Given the description of an element on the screen output the (x, y) to click on. 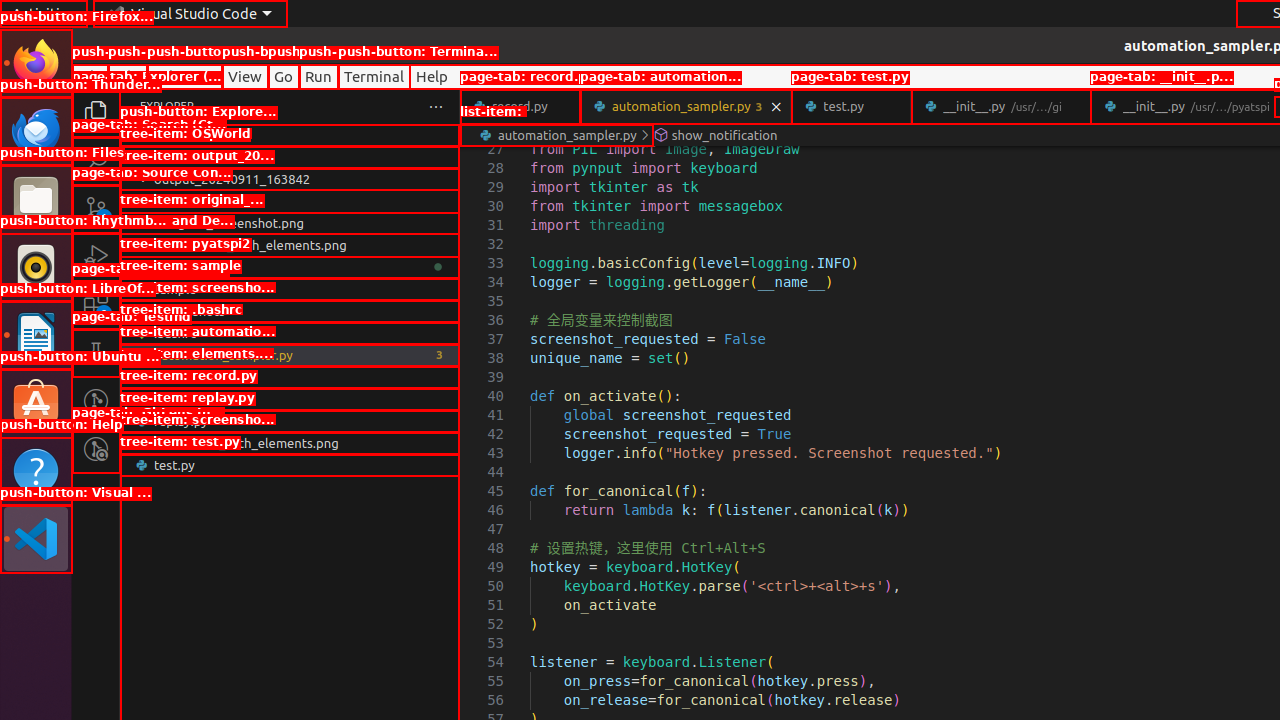
File Element type: push-button (90, 76)
test.py Element type: tree-item (289, 465)
elements.json Element type: tree-item (289, 377)
Go Element type: push-button (283, 76)
Terminal Element type: push-button (374, 76)
